Given the description of an element on the screen output the (x, y) to click on. 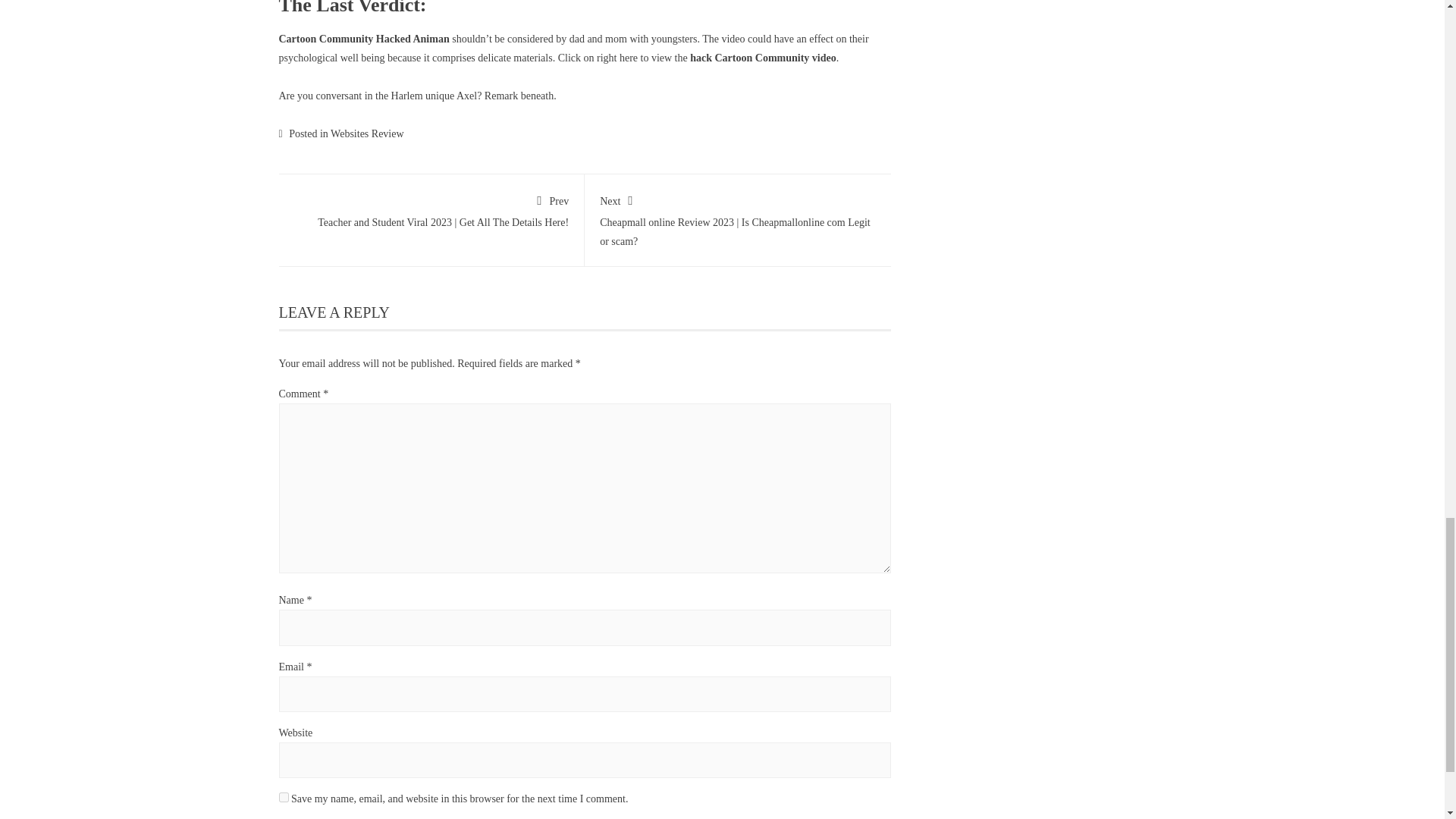
yes (283, 797)
Websites Review (366, 133)
